Given the description of an element on the screen output the (x, y) to click on. 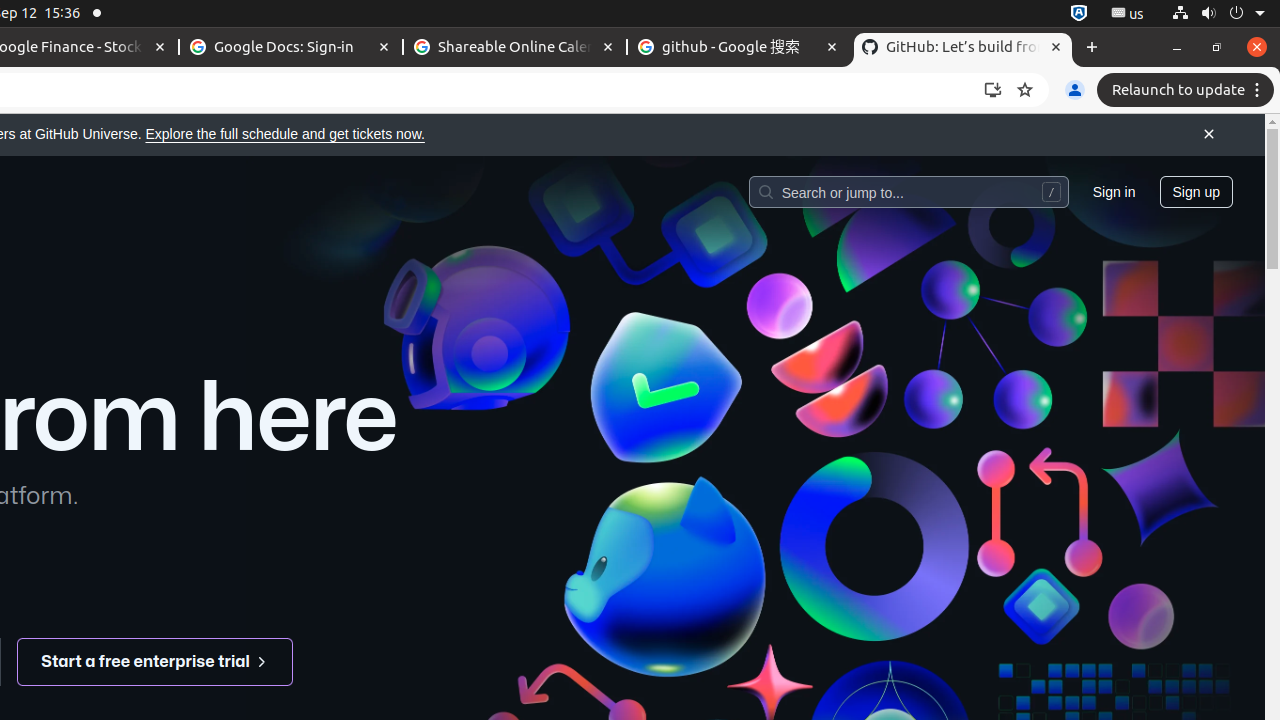
Sign in Element type: link (1114, 191)
Close Element type: push-button (1209, 135)
Search or jump to… Element type: push-button (908, 191)
:1.72/StatusNotifierItem Element type: menu (1079, 13)
You Element type: push-button (1075, 90)
